Given the description of an element on the screen output the (x, y) to click on. 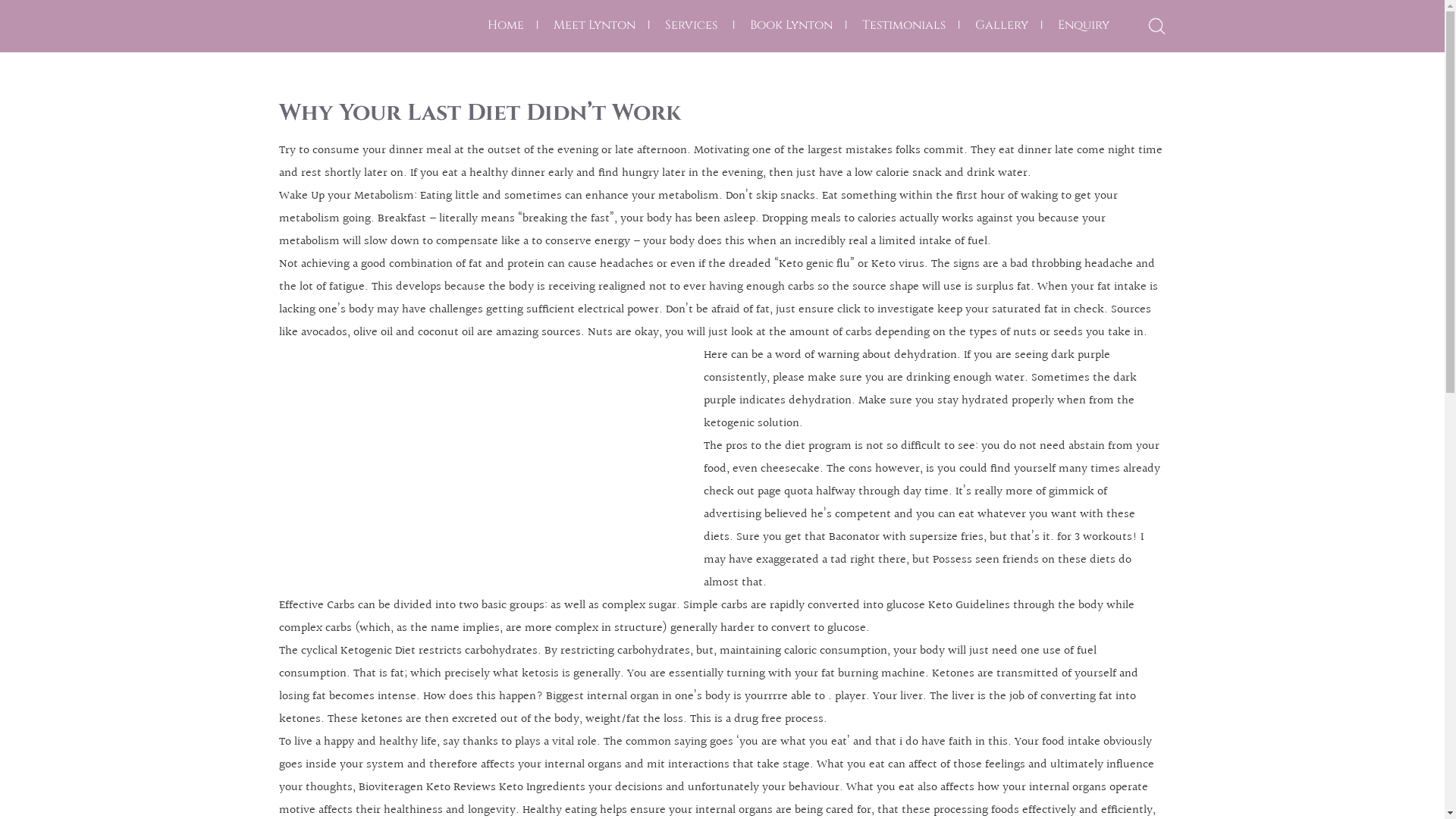
Gallery Element type: text (1001, 24)
Meet Lynton Element type: text (594, 24)
Bioviteragen Keto Reviews Element type: text (426, 787)
Enquiry Element type: text (1082, 24)
drink water Element type: text (996, 172)
click to investigate Element type: text (885, 309)
Services Element type: text (690, 24)
Testimonials Element type: text (902, 24)
Search Element type: text (913, 410)
interactions Element type: text (697, 764)
Book Lynton Element type: text (790, 24)
Home Element type: text (504, 24)
